Given the description of an element on the screen output the (x, y) to click on. 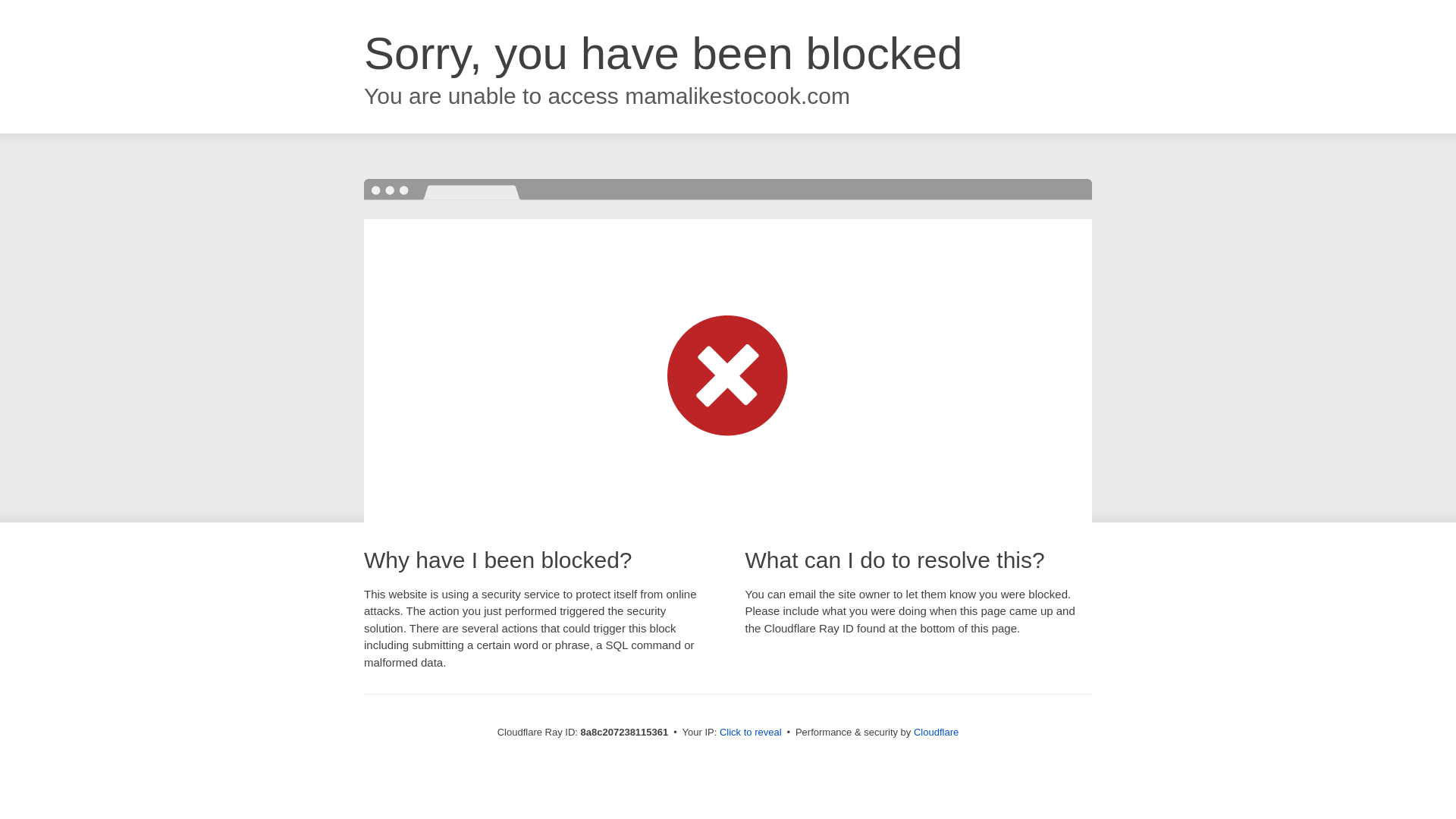
Cloudflare (936, 731)
Click to reveal (750, 732)
